Given the description of an element on the screen output the (x, y) to click on. 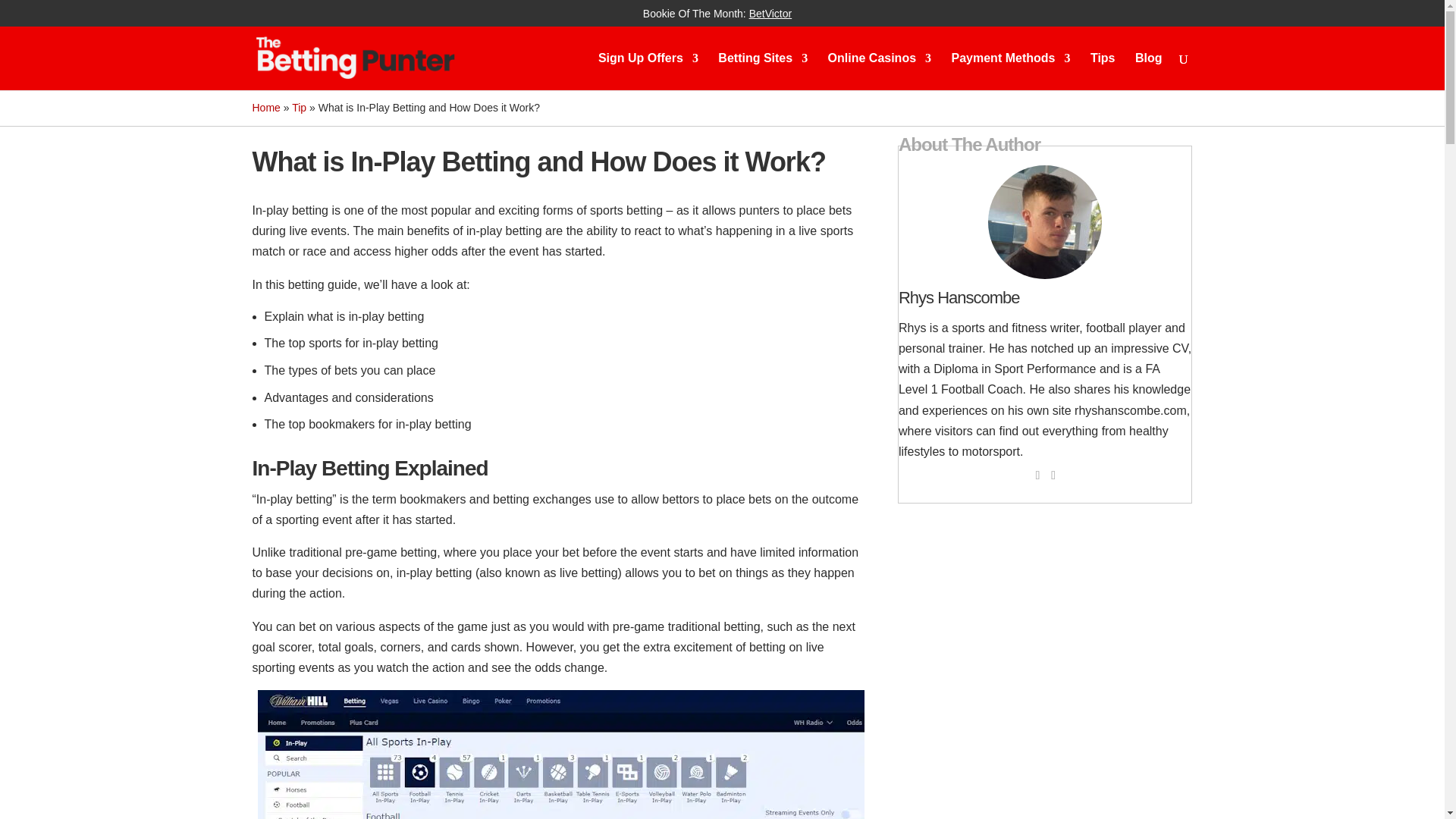
Betting Sites (762, 71)
BetVictor (770, 13)
Payment Methods (1011, 71)
Online Casinos (879, 71)
Home (265, 107)
Tip (298, 107)
Sign Up Offers (648, 71)
